Given the description of an element on the screen output the (x, y) to click on. 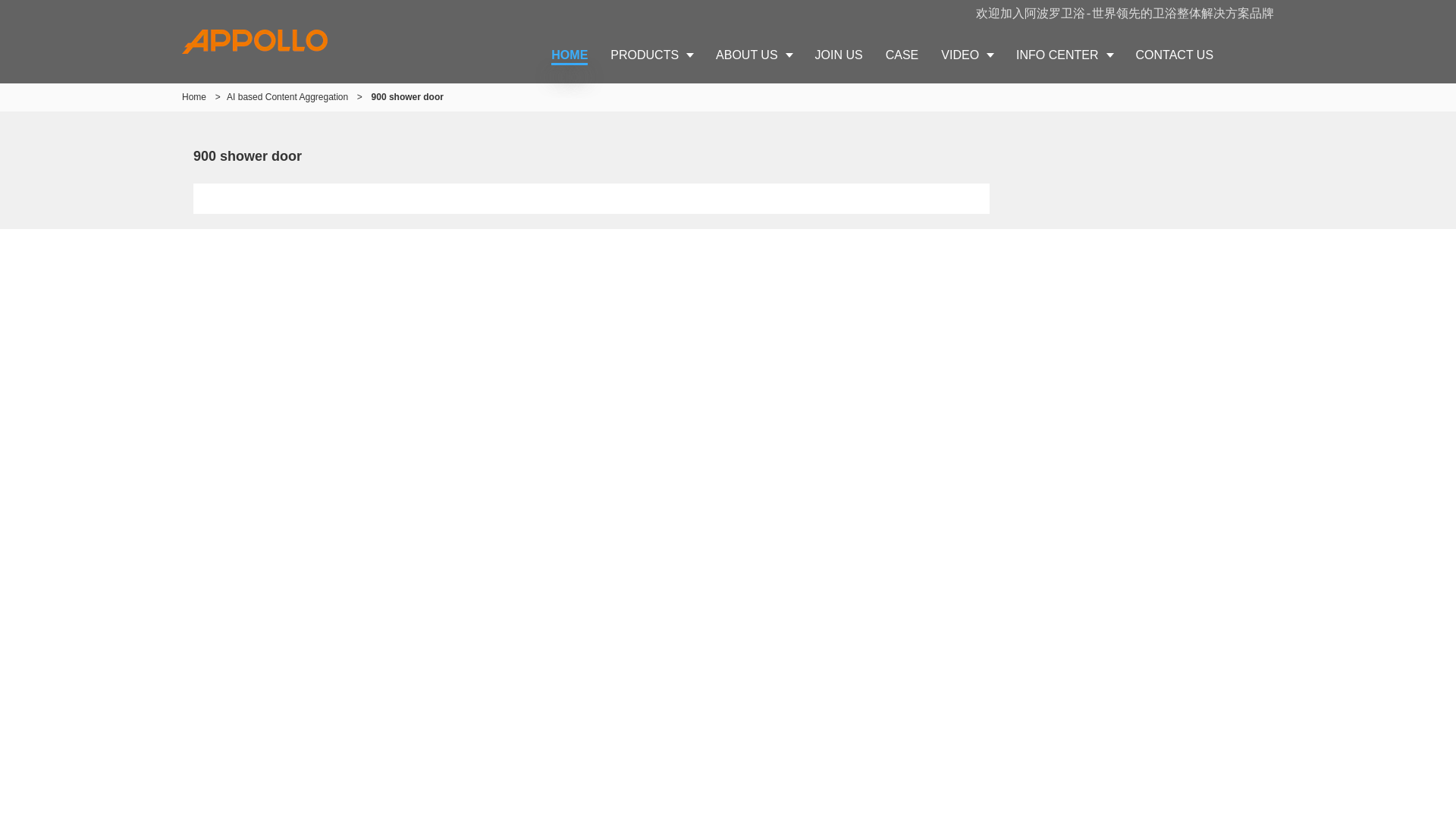
AI based Content Aggregation (287, 96)
CONTACT US (1174, 55)
INFO CENTER (1064, 55)
VIDEO (967, 55)
CASE (902, 55)
HOME (569, 55)
JOIN US (839, 55)
PRODUCTS (651, 55)
ABOUT US (753, 55)
Home (194, 96)
